Given the description of an element on the screen output the (x, y) to click on. 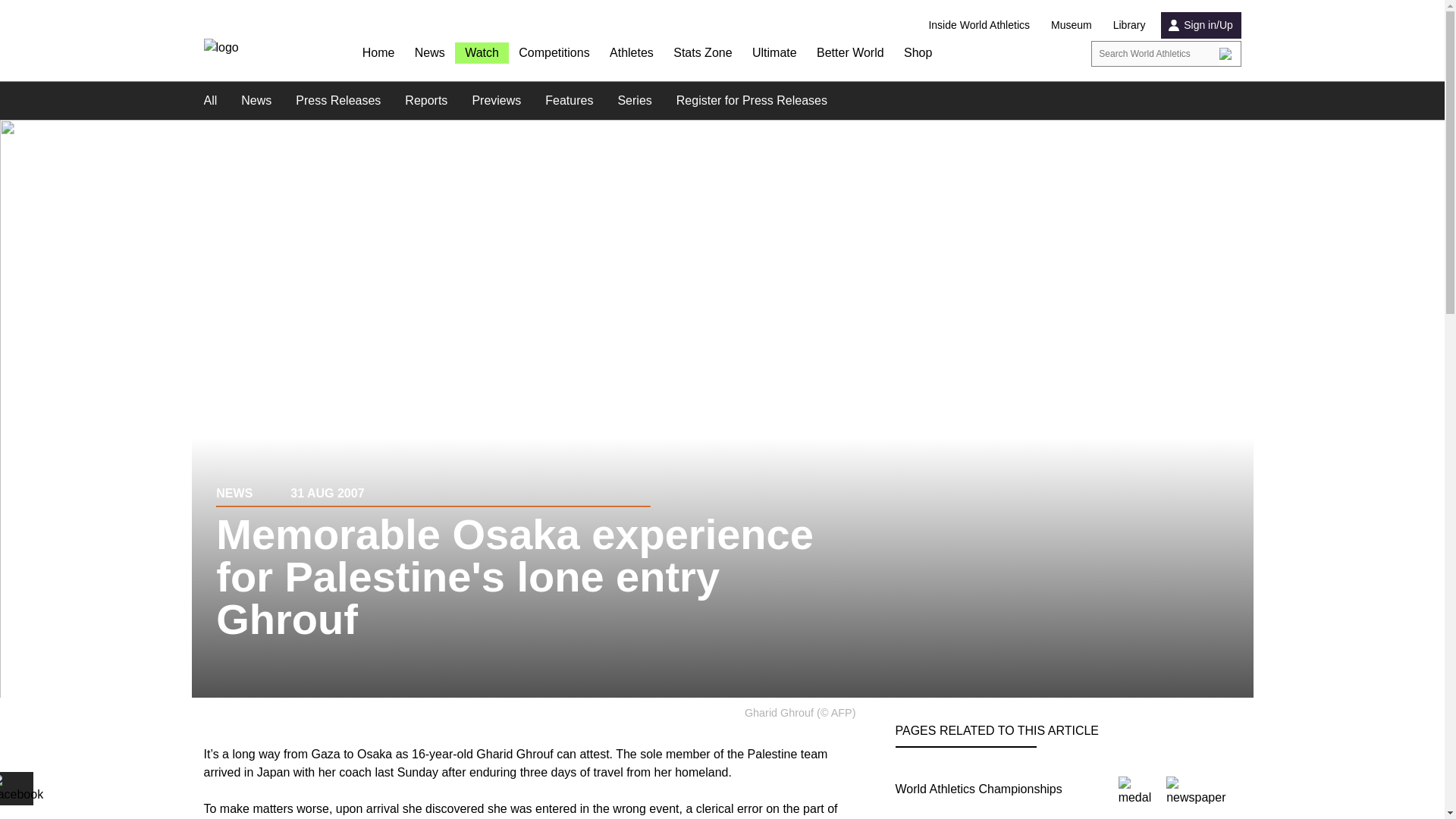
Athletes (631, 53)
Competitions (553, 53)
Inside World Athletics (978, 24)
Museum (1071, 24)
Library (1129, 24)
Watch (481, 52)
Home (378, 53)
News (429, 53)
Stats Zone (702, 53)
